Given the description of an element on the screen output the (x, y) to click on. 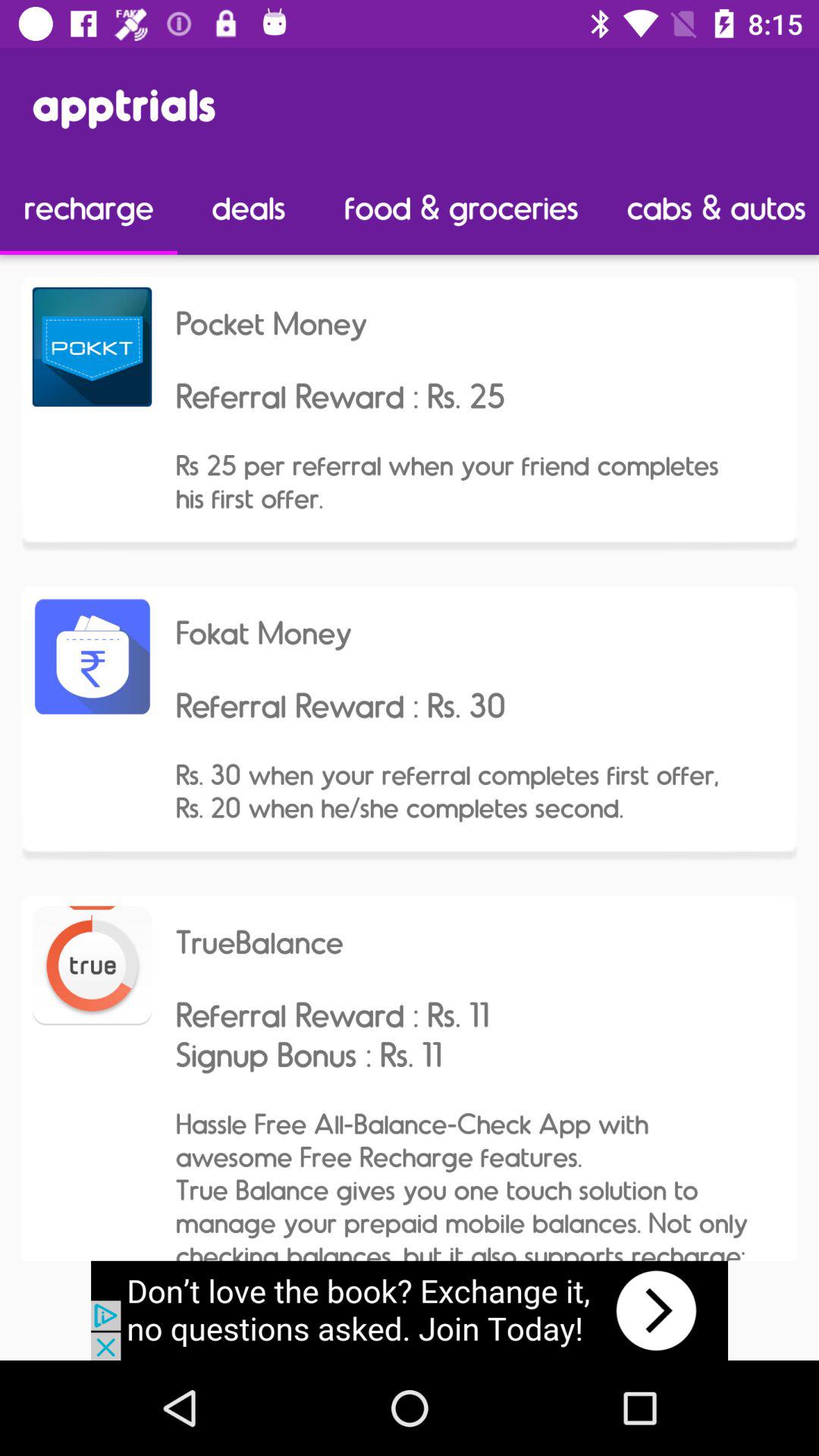
open advertisement (409, 1310)
